Given the description of an element on the screen output the (x, y) to click on. 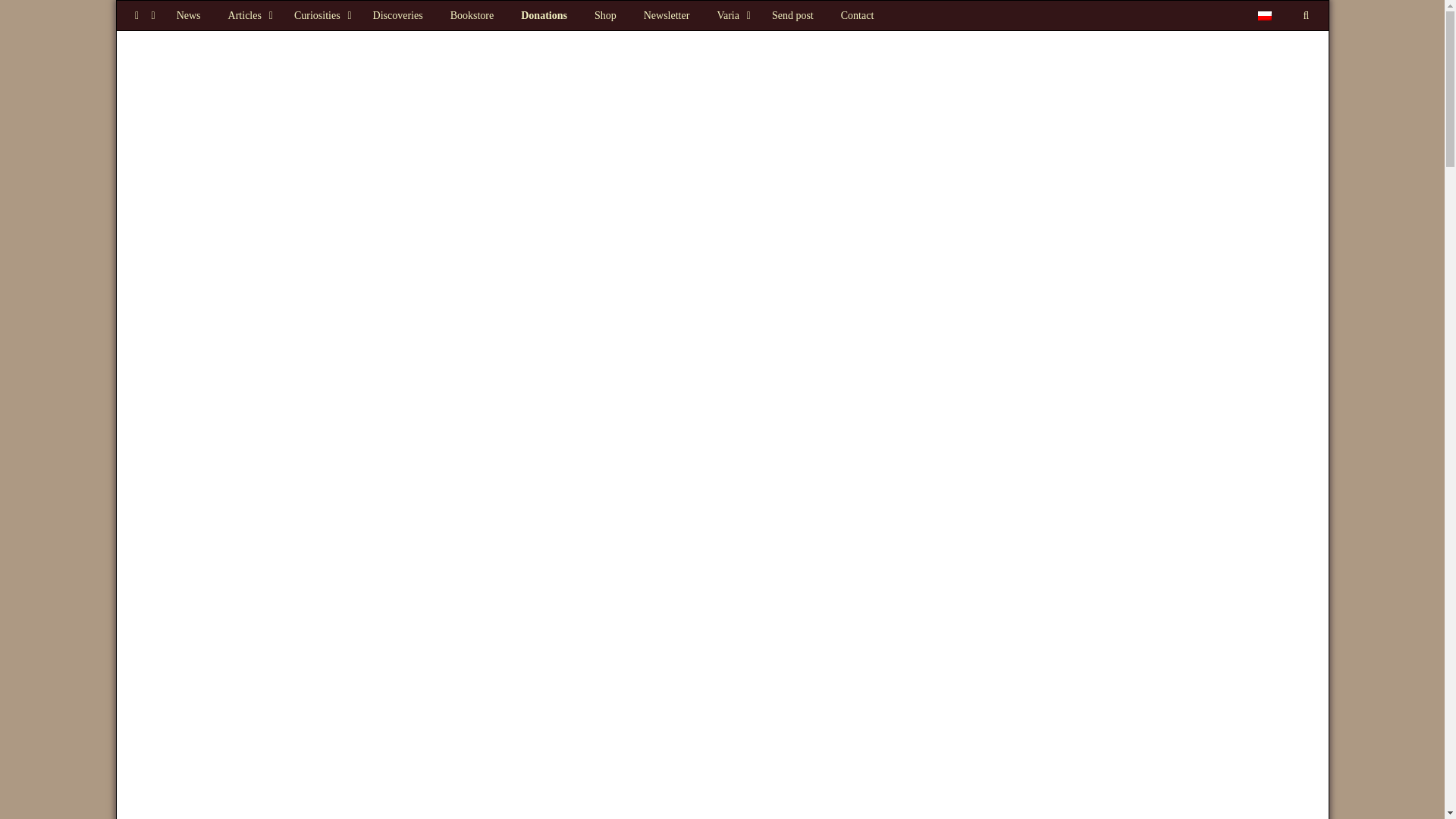
Main page (188, 15)
Other matters related to website (730, 15)
Roman shop (605, 15)
Articles about ancient Rome (247, 15)
Donations (543, 15)
Curiosities about ancient Rome (320, 15)
Discoveries about ancient Rome (397, 15)
